Given the description of an element on the screen output the (x, y) to click on. 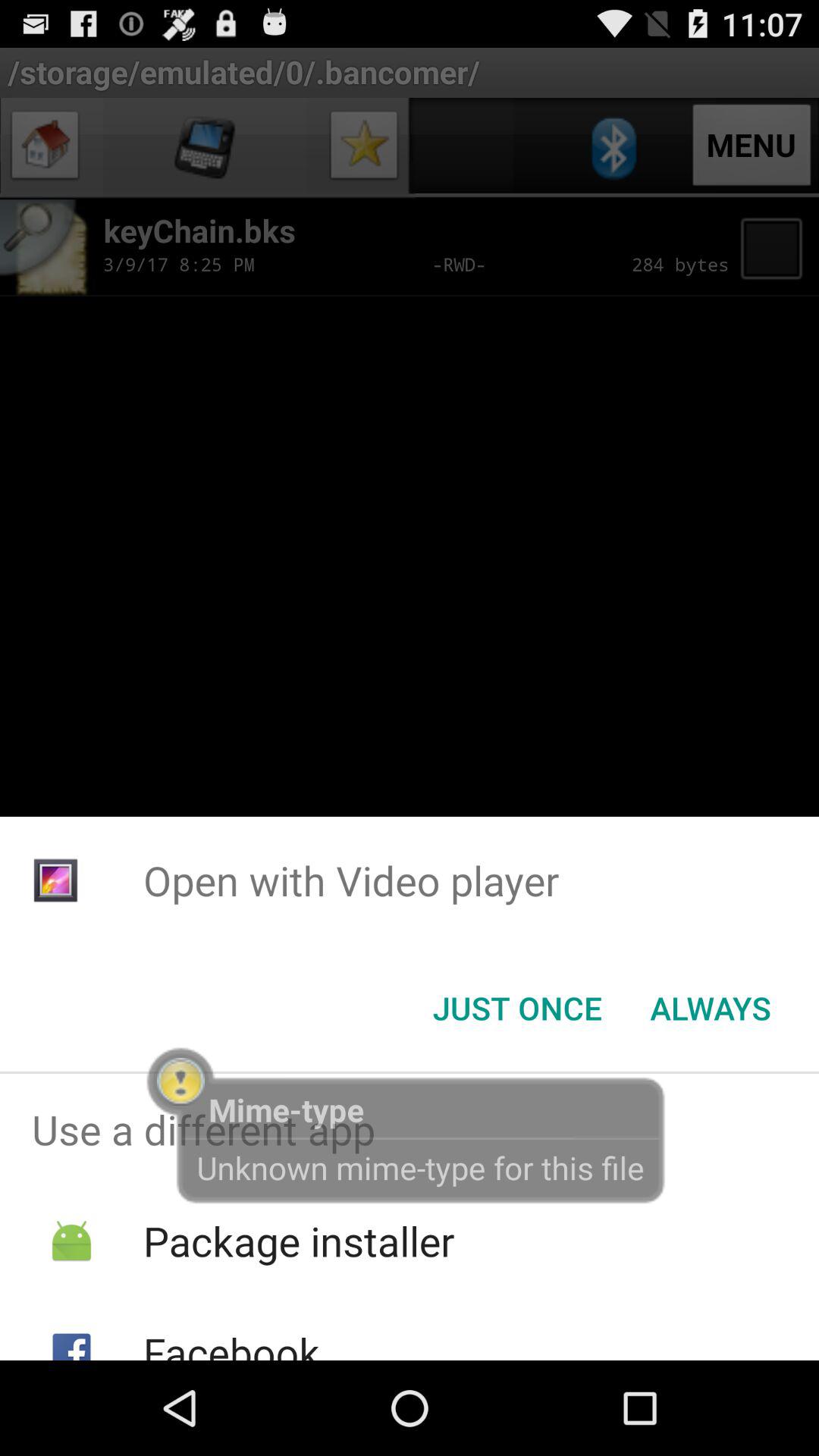
select icon above facebook icon (298, 1240)
